Given the description of an element on the screen output the (x, y) to click on. 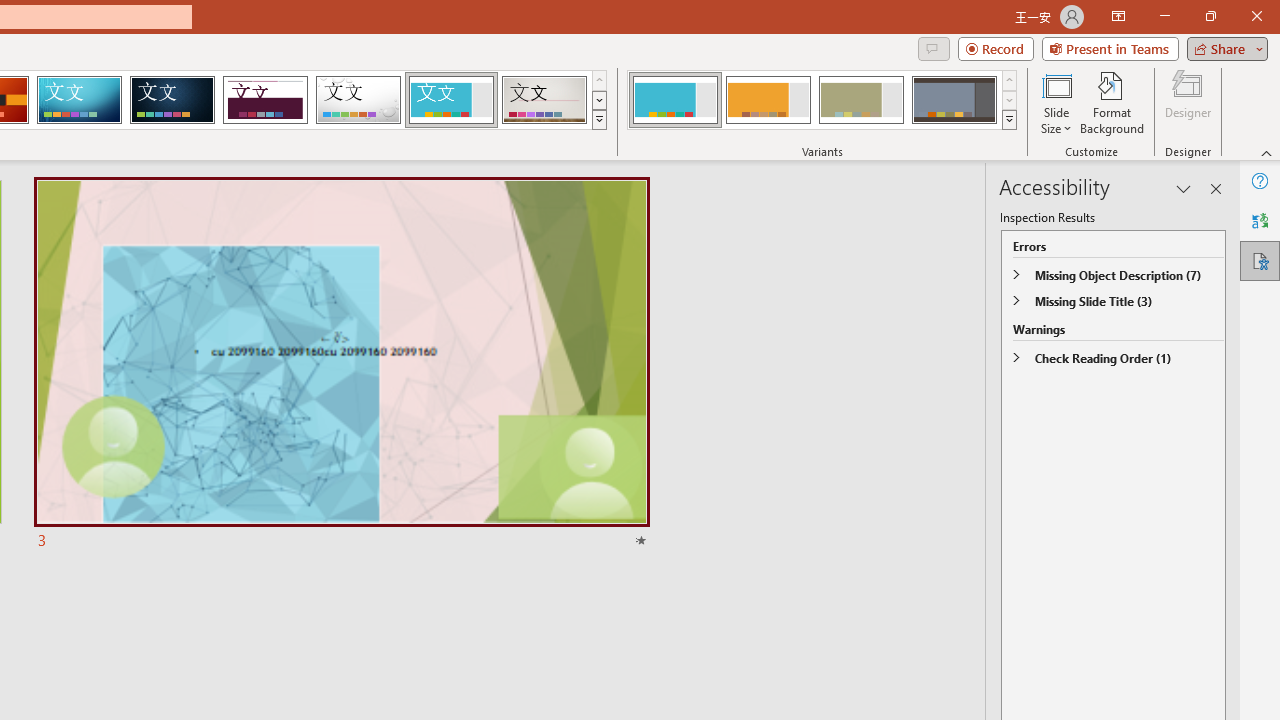
Frame (450, 100)
Slide Size (1056, 102)
Damask (171, 100)
Frame Variant 4 (953, 100)
Themes (598, 120)
Droplet (358, 100)
